Given the description of an element on the screen output the (x, y) to click on. 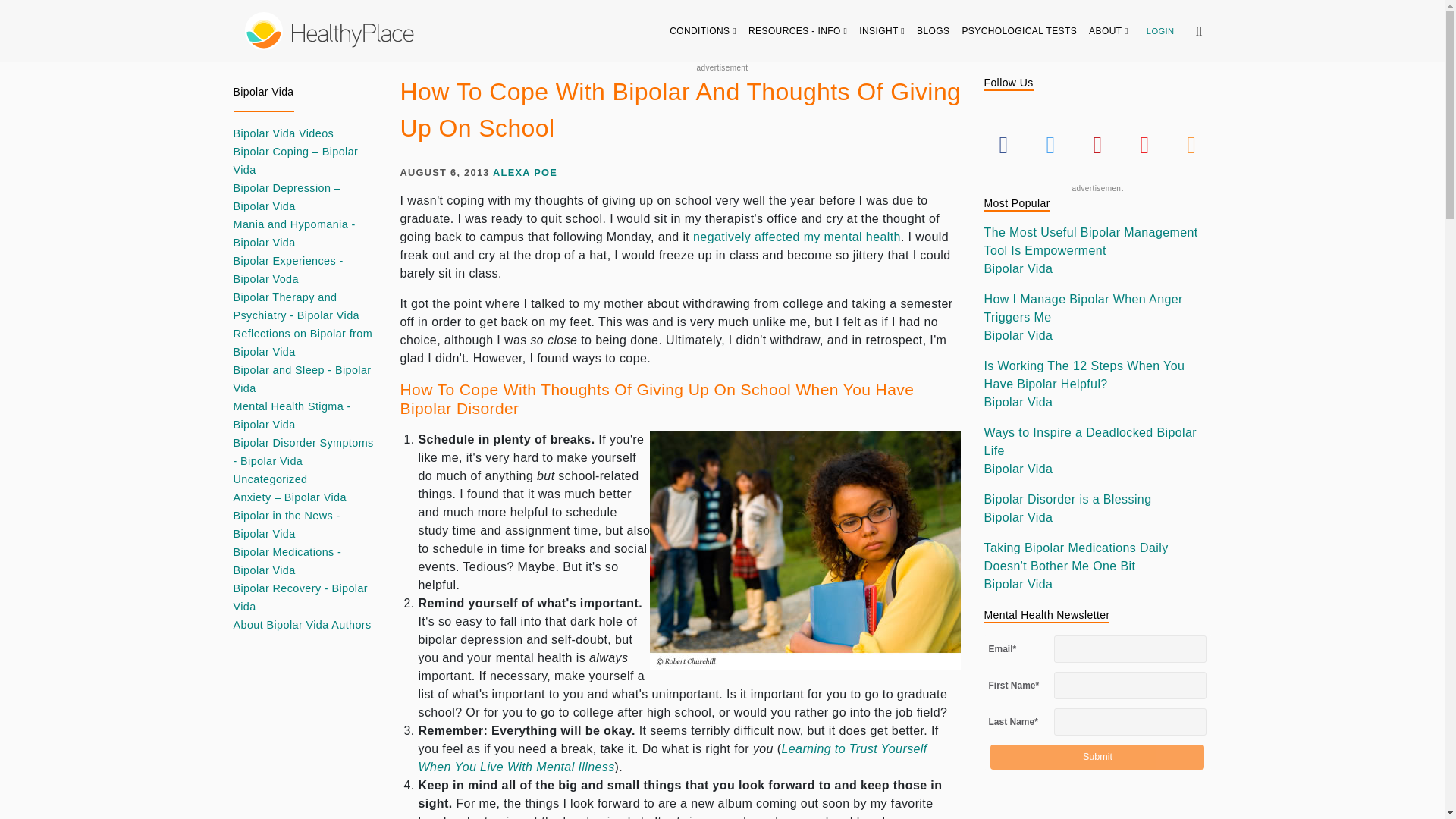
Learning To Trust Yourself When You Live With Mental Illness (673, 757)
INSIGHT (882, 31)
Effects of Bipolar Disorder (797, 236)
How To Cope With Bipolar And Thoughts Of Giving Up On School (804, 549)
CONDITIONS (702, 31)
RESOURCES - INFO (797, 31)
Submit (1097, 756)
